Given the description of an element on the screen output the (x, y) to click on. 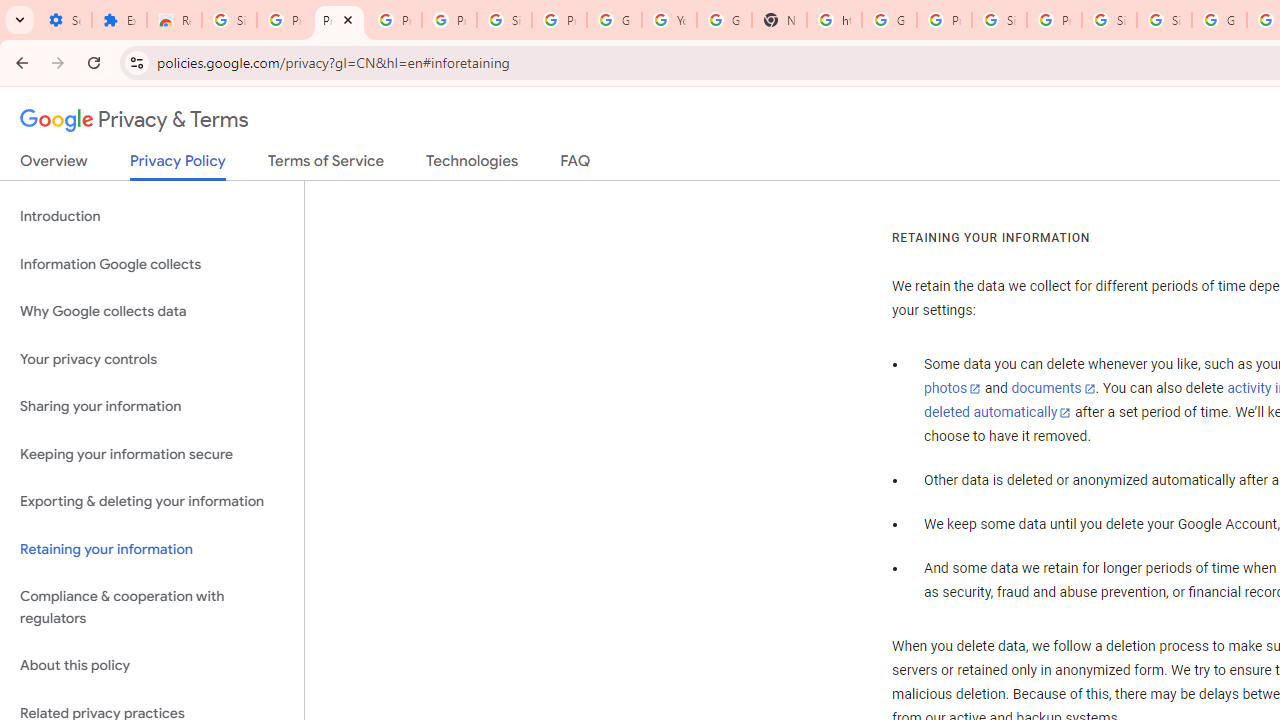
https://scholar.google.com/ (833, 20)
Google Account (614, 20)
Retaining your information (152, 548)
Reviews: Helix Fruit Jump Arcade Game (174, 20)
Why Google collects data (152, 312)
Your privacy controls (152, 358)
